Given the description of an element on the screen output the (x, y) to click on. 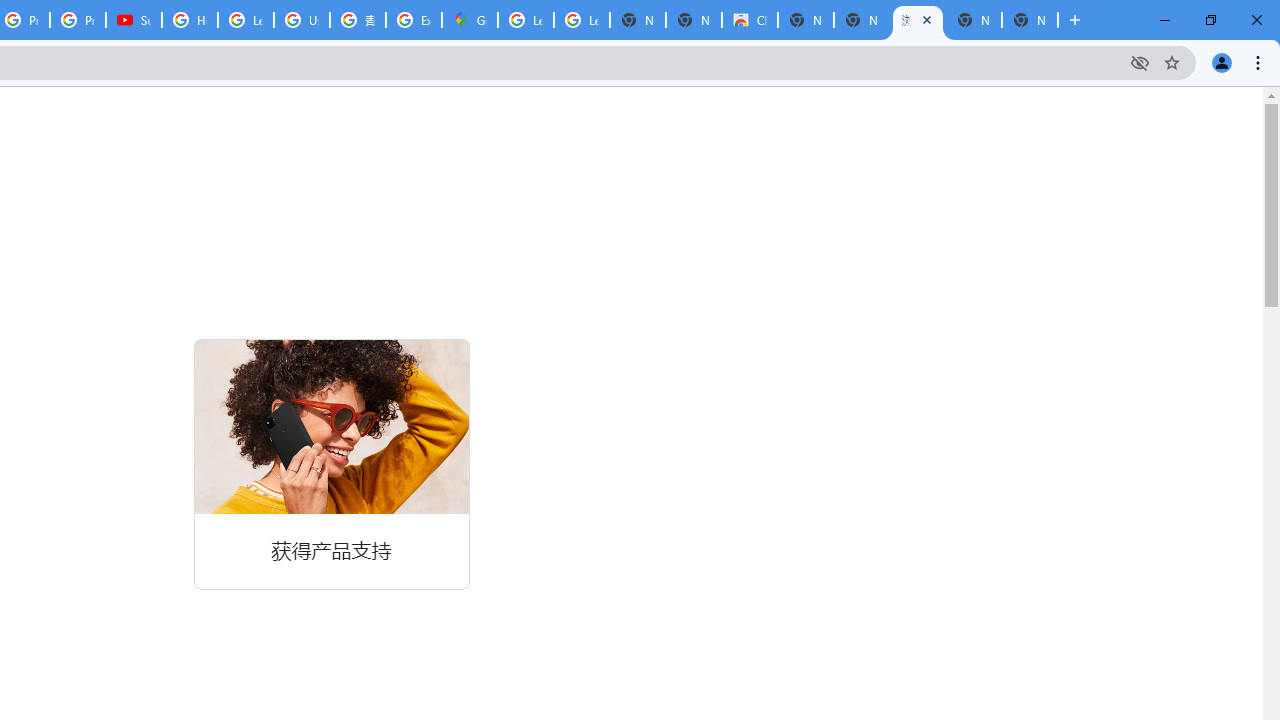
How Chrome protects your passwords - Google Chrome Help (189, 20)
Subscriptions - YouTube (134, 20)
Chrome Web Store (749, 20)
Google Maps (469, 20)
New Tab (1030, 20)
